Given the description of an element on the screen output the (x, y) to click on. 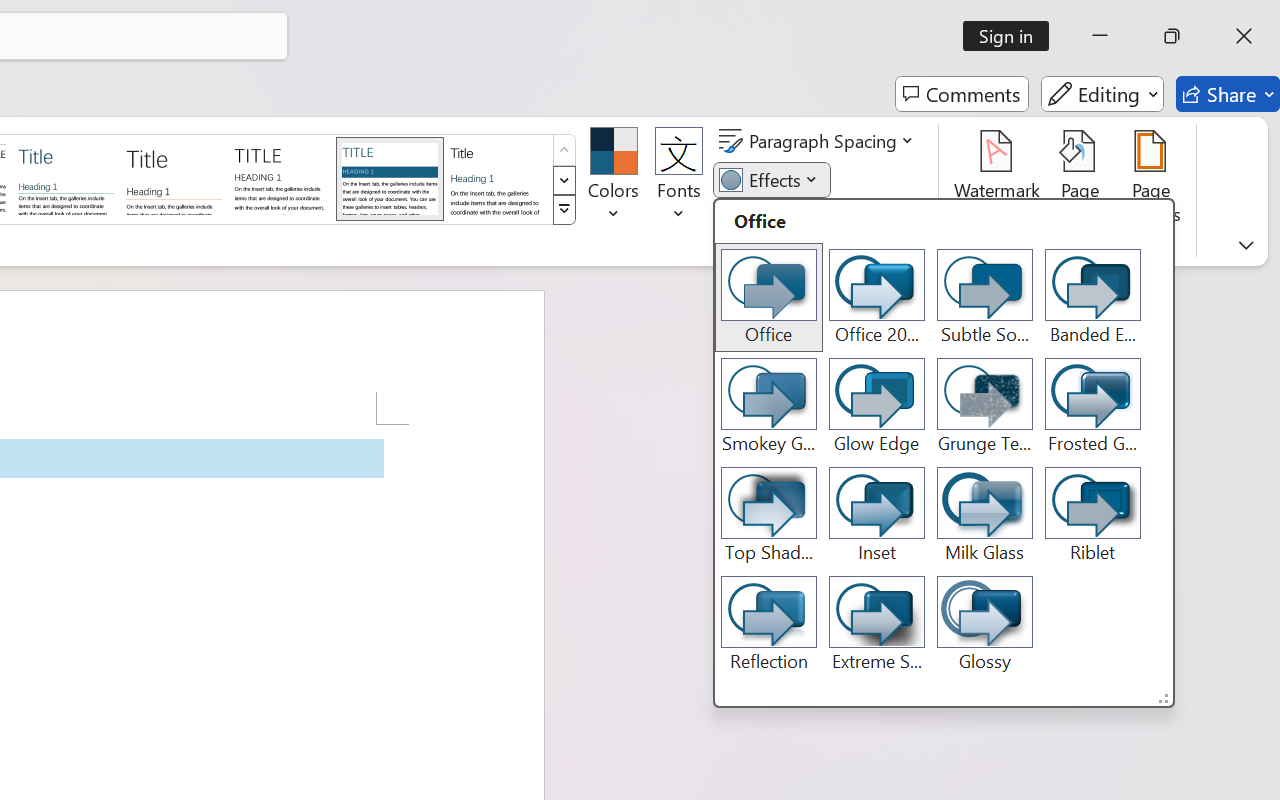
Fonts (678, 179)
Lines (Stylish) (173, 178)
Lines (Simple) (65, 178)
Minimalist (281, 178)
Shaded (389, 178)
Sign in (1012, 35)
Colors (613, 179)
Effects (943, 453)
